Given the description of an element on the screen output the (x, y) to click on. 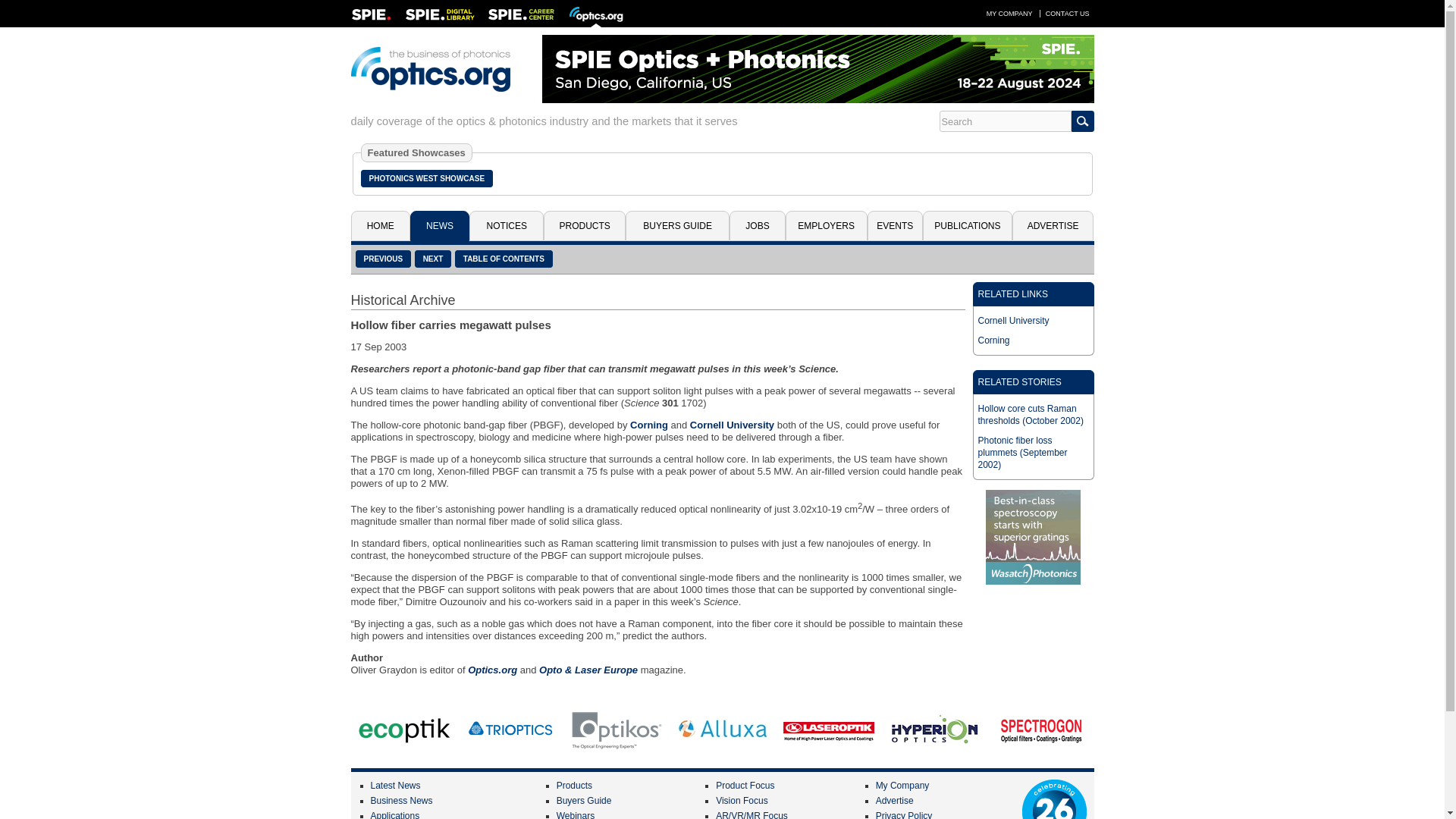
HOME (379, 225)
NOTICES (505, 225)
JOBS (757, 225)
BUYERS GUIDE (677, 225)
Search (1004, 120)
PRODUCTS (584, 225)
CONTACT US (1067, 13)
MY COMPANY (1008, 13)
PHOTONICS WEST SHOWCASE (427, 178)
NEWS (439, 225)
